Given the description of an element on the screen output the (x, y) to click on. 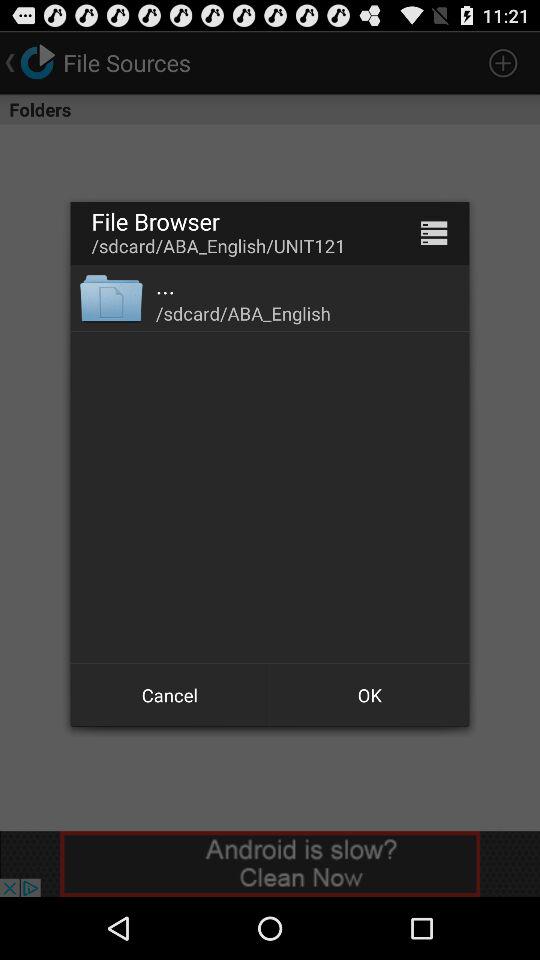
jump to ... icon (165, 285)
